Given the description of an element on the screen output the (x, y) to click on. 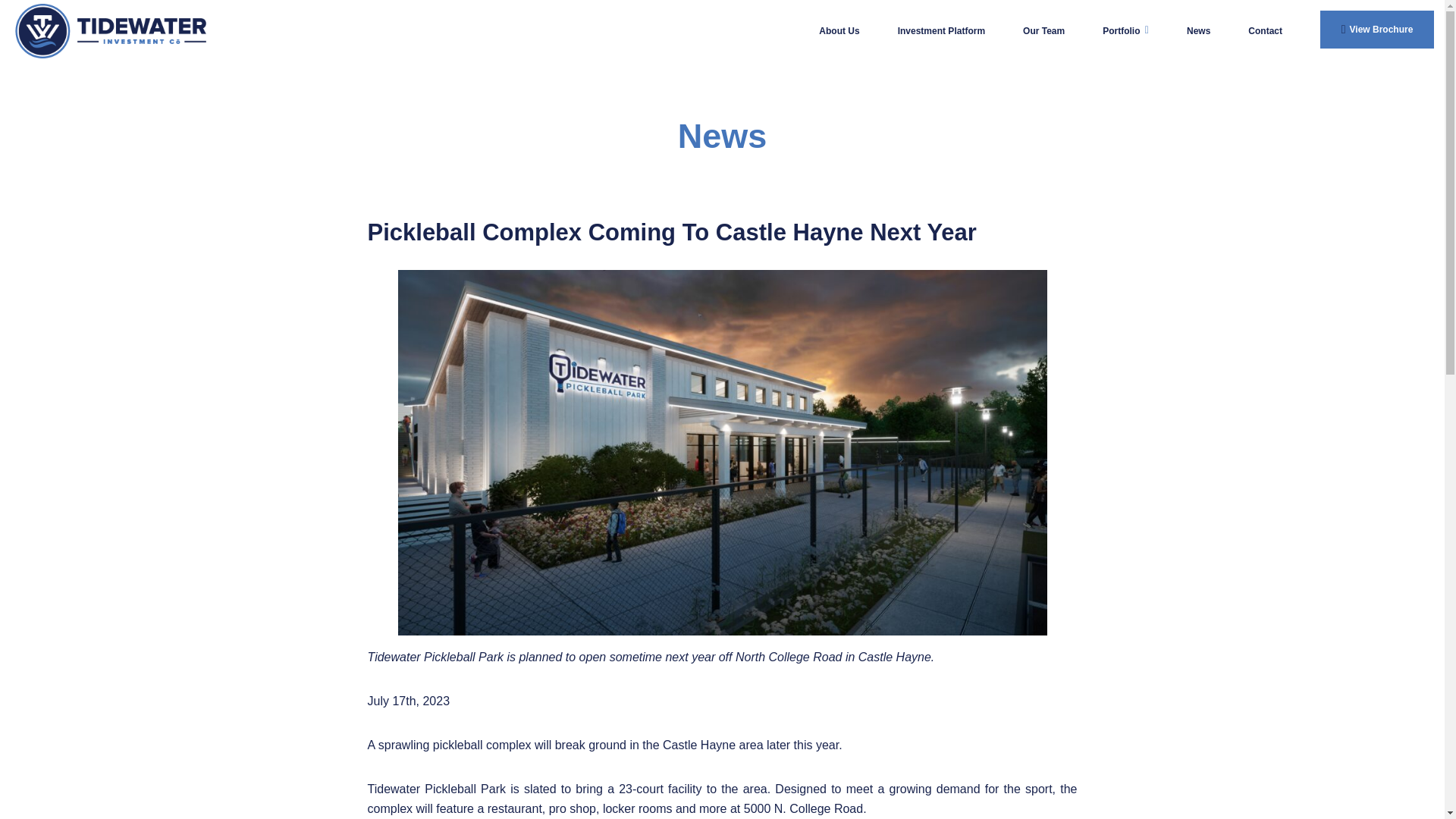
Portfolio (1125, 30)
News (1197, 30)
About Us (838, 30)
Investment Platform (941, 30)
Our Team (1043, 30)
Portfolio (1125, 30)
View Brochure (1377, 29)
View Brochure (1377, 29)
Contact (1264, 30)
Our Team (1043, 30)
